Given the description of an element on the screen output the (x, y) to click on. 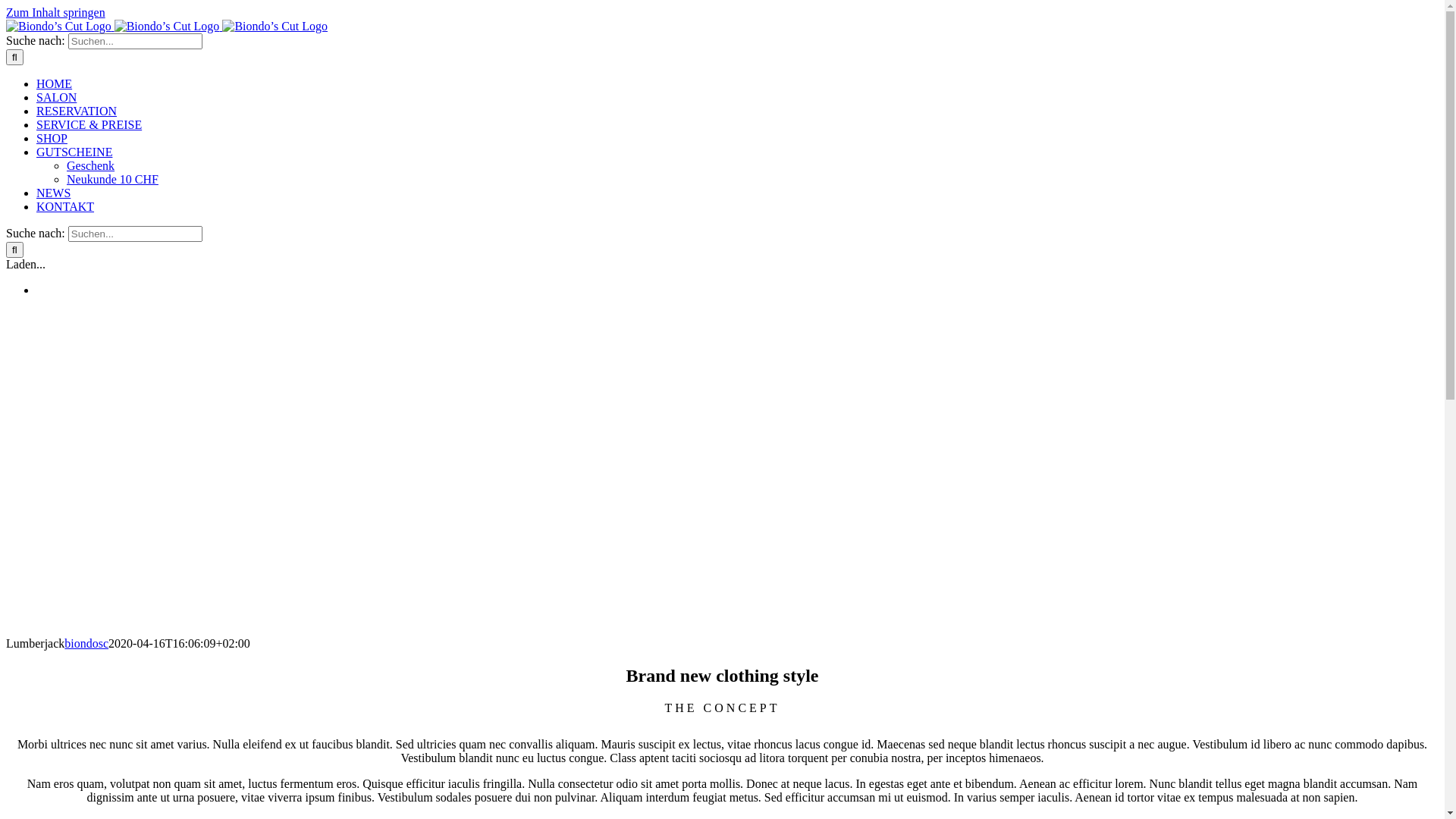
SHOP Element type: text (51, 137)
HOME Element type: text (54, 83)
RESERVATION Element type: text (76, 110)
Neukunde 10 CHF Element type: text (112, 178)
GUTSCHEINE Element type: text (74, 151)
Zum Inhalt springen Element type: text (55, 12)
SALON Element type: text (56, 97)
SERVICE & PREISE Element type: text (88, 124)
Geschenk Element type: text (90, 165)
biondosc Element type: text (86, 643)
NEWS Element type: text (53, 192)
KONTAKT Element type: text (65, 206)
